Given the description of an element on the screen output the (x, y) to click on. 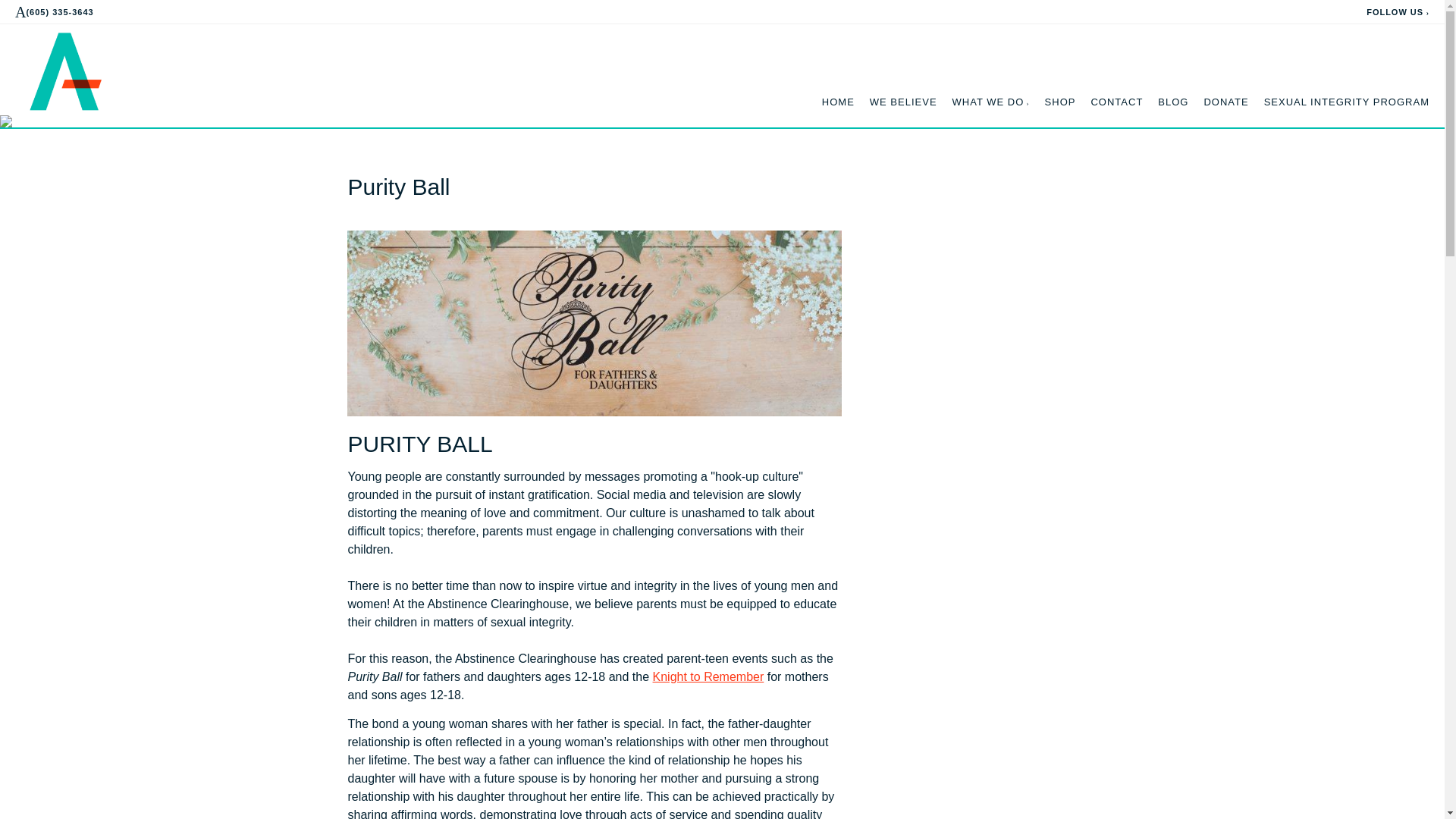
DONATE (1225, 102)
HOME (838, 102)
SHOP (1060, 102)
Knight to Remember (708, 676)
BLOG (1172, 102)
WE BELIEVE (903, 102)
CONTACT (1116, 102)
PURITY BALL (419, 443)
SEXUAL INTEGRITY PROGRAM (1346, 102)
